Given the description of an element on the screen output the (x, y) to click on. 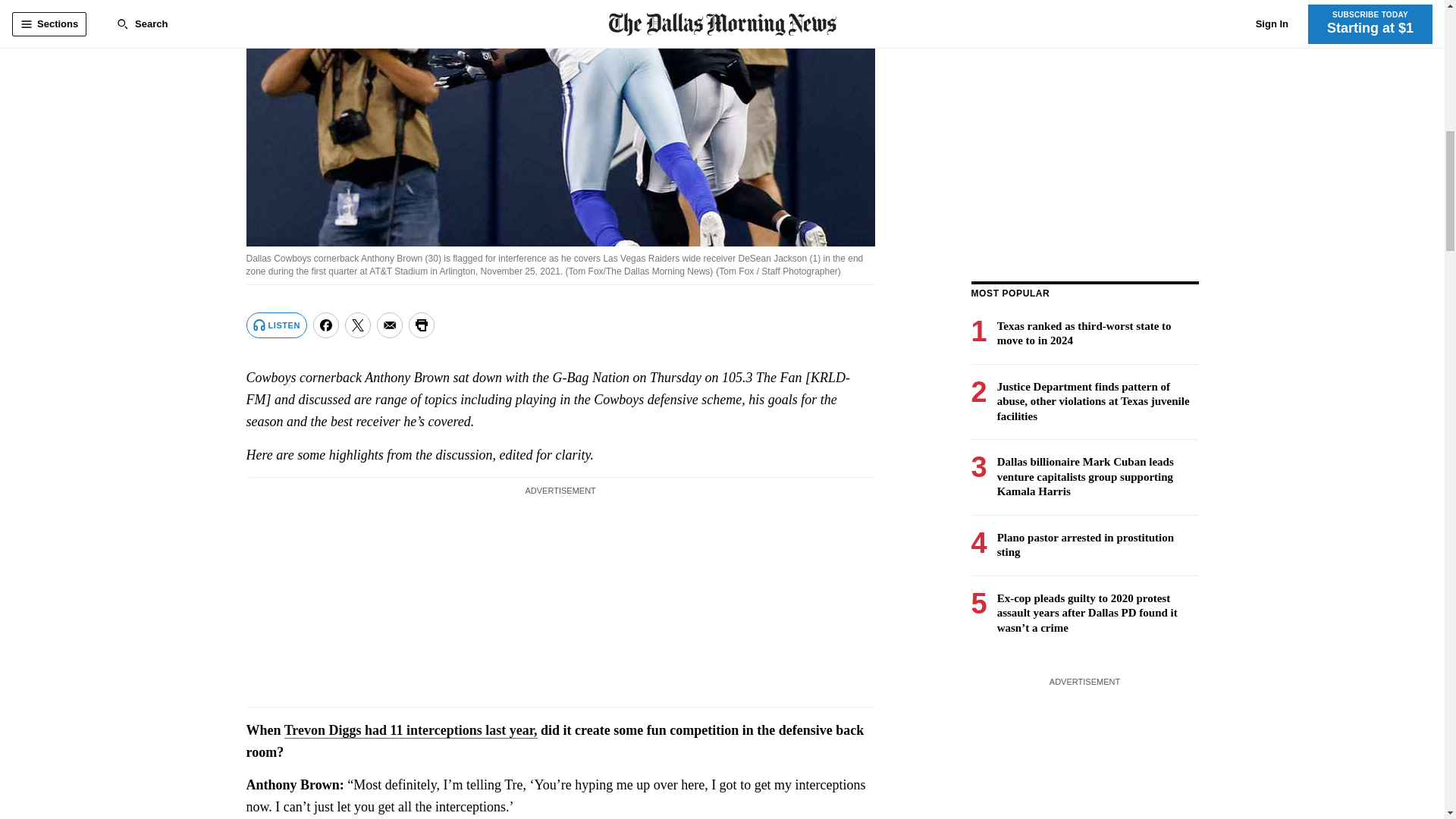
Share via Email (390, 325)
Share on Twitter (358, 325)
Share on Facebook (326, 325)
Print (421, 325)
